Given the description of an element on the screen output the (x, y) to click on. 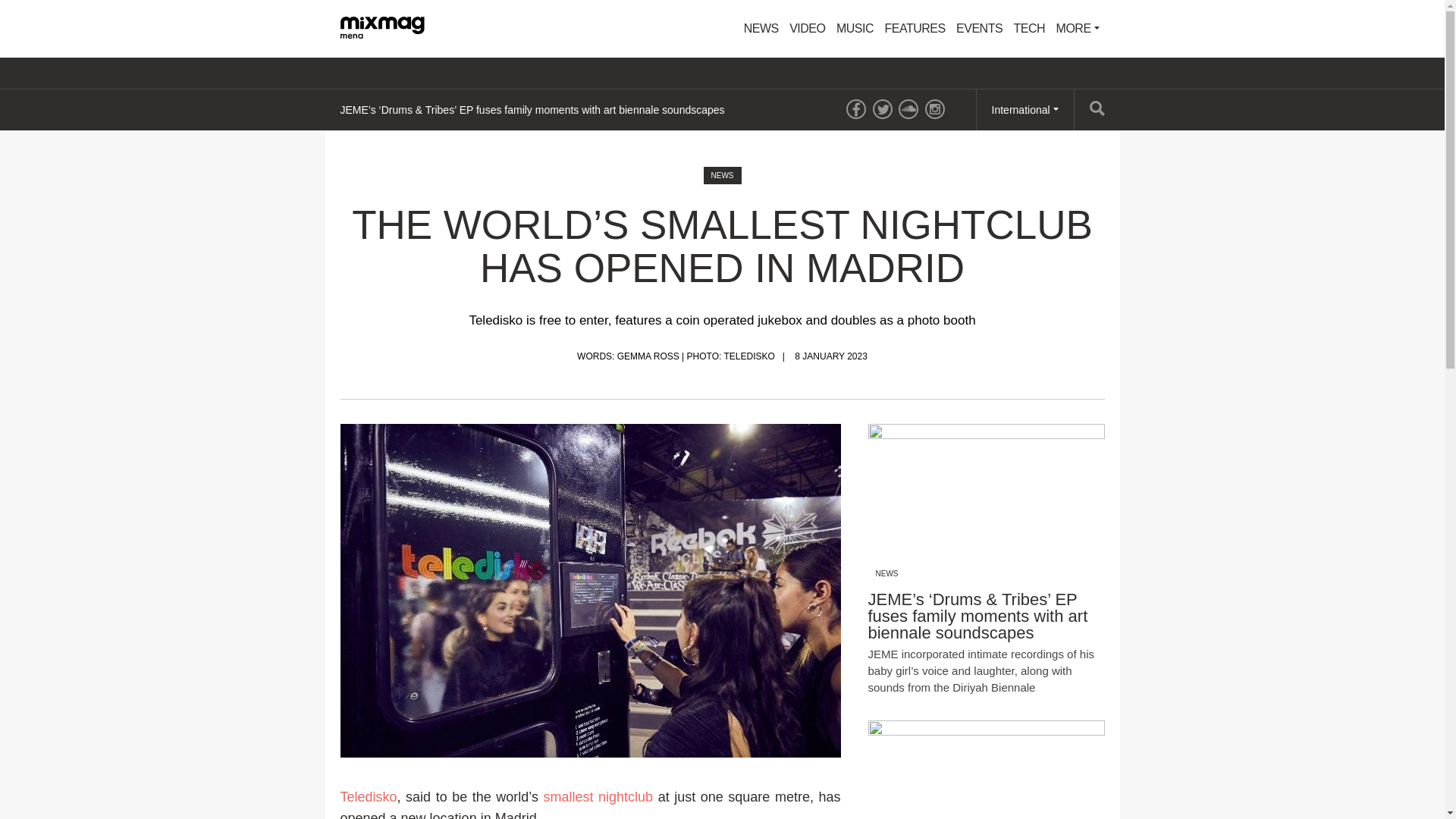
FEATURES (914, 28)
MORE (1078, 28)
EVENTS (978, 28)
